Given the description of an element on the screen output the (x, y) to click on. 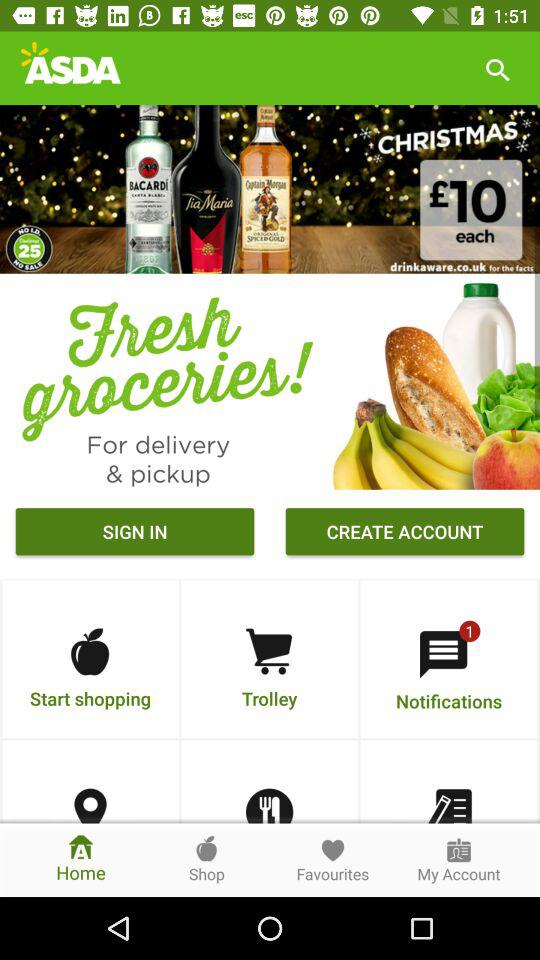
go to location icon on the bottom right (89, 806)
click on the logo which is left side of the search bar icon (70, 68)
click on the home button (80, 859)
go to the search button (498, 68)
go to the heart icon at the bottom (332, 849)
choose the apple icon under sign in (89, 651)
